Given the description of an element on the screen output the (x, y) to click on. 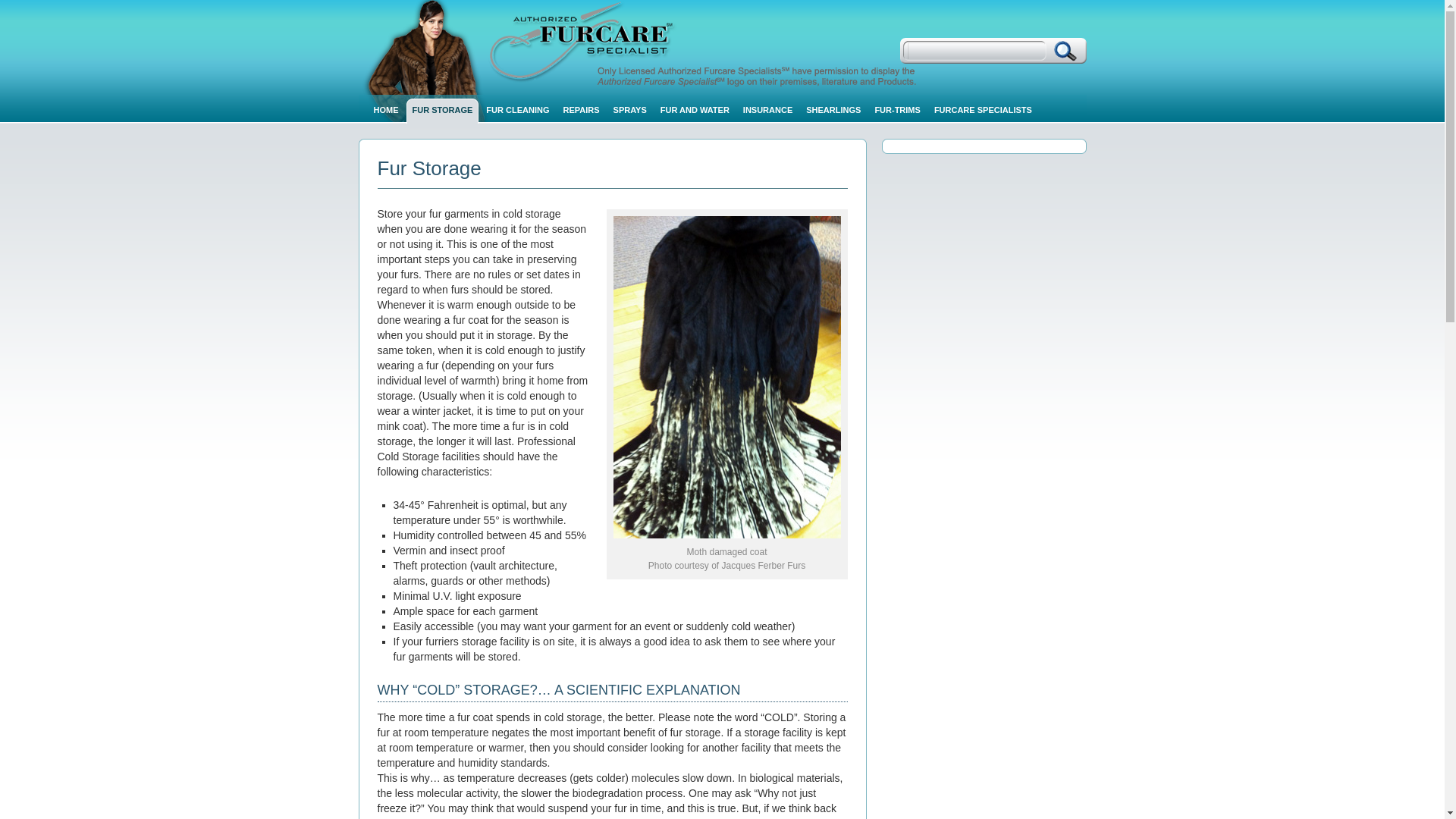
REPAIRS (583, 110)
SPRAYS (632, 110)
FUR CLEANING (520, 110)
Search (1064, 50)
INSURANCE (769, 110)
FUR AND WATER (698, 110)
FUR STORAGE (445, 110)
FUR-TRIMS (900, 110)
Furcare.org (714, 43)
FURCARE SPECIALISTS (986, 110)
SHEARLINGS (836, 110)
Search (1064, 50)
HOME (388, 110)
